Given the description of an element on the screen output the (x, y) to click on. 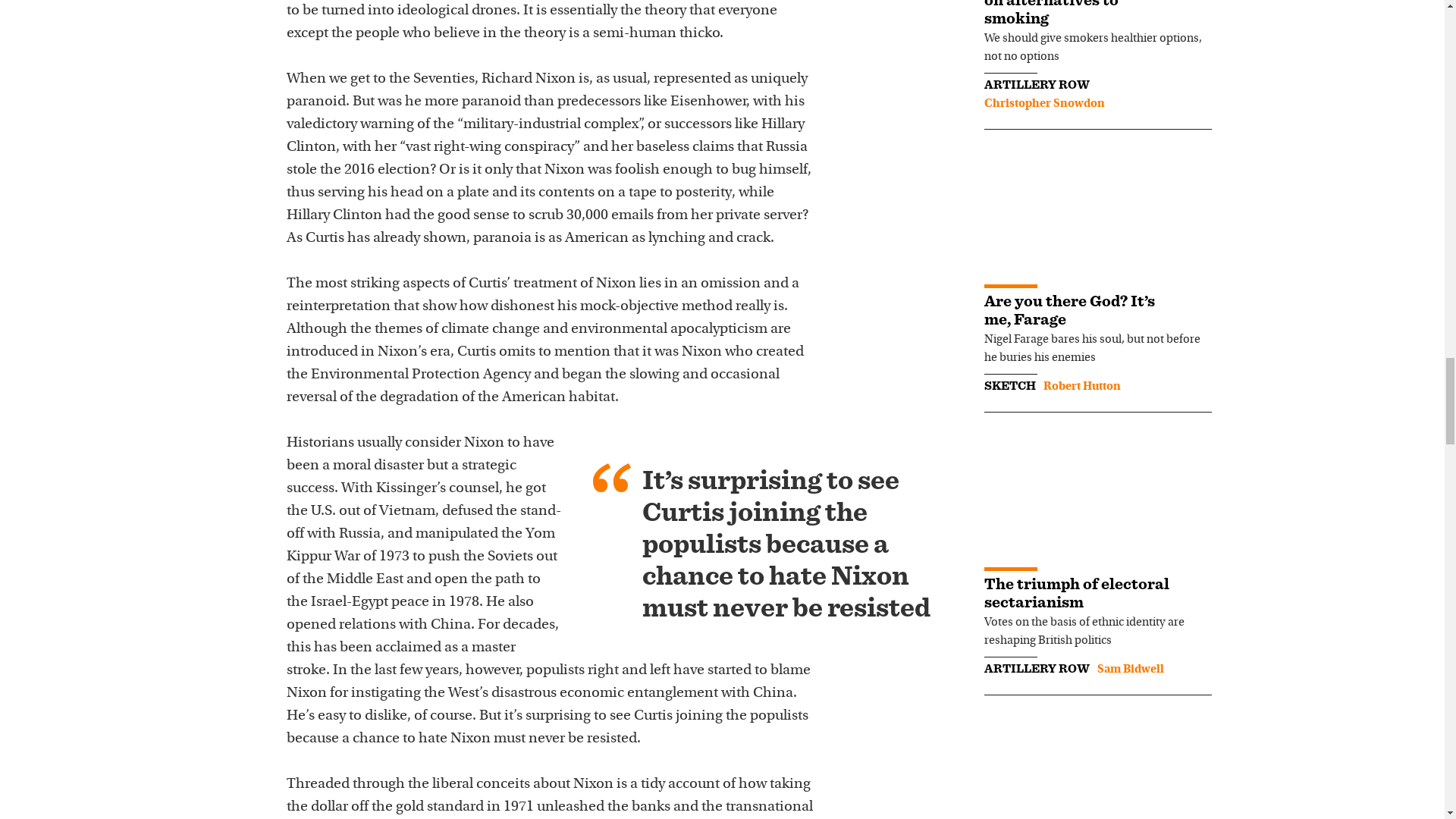
Posts by Sam Bidwell (1129, 669)
Posts by Christopher Snowdon (1044, 103)
Posts by Robert Hutton (1082, 386)
